Given the description of an element on the screen output the (x, y) to click on. 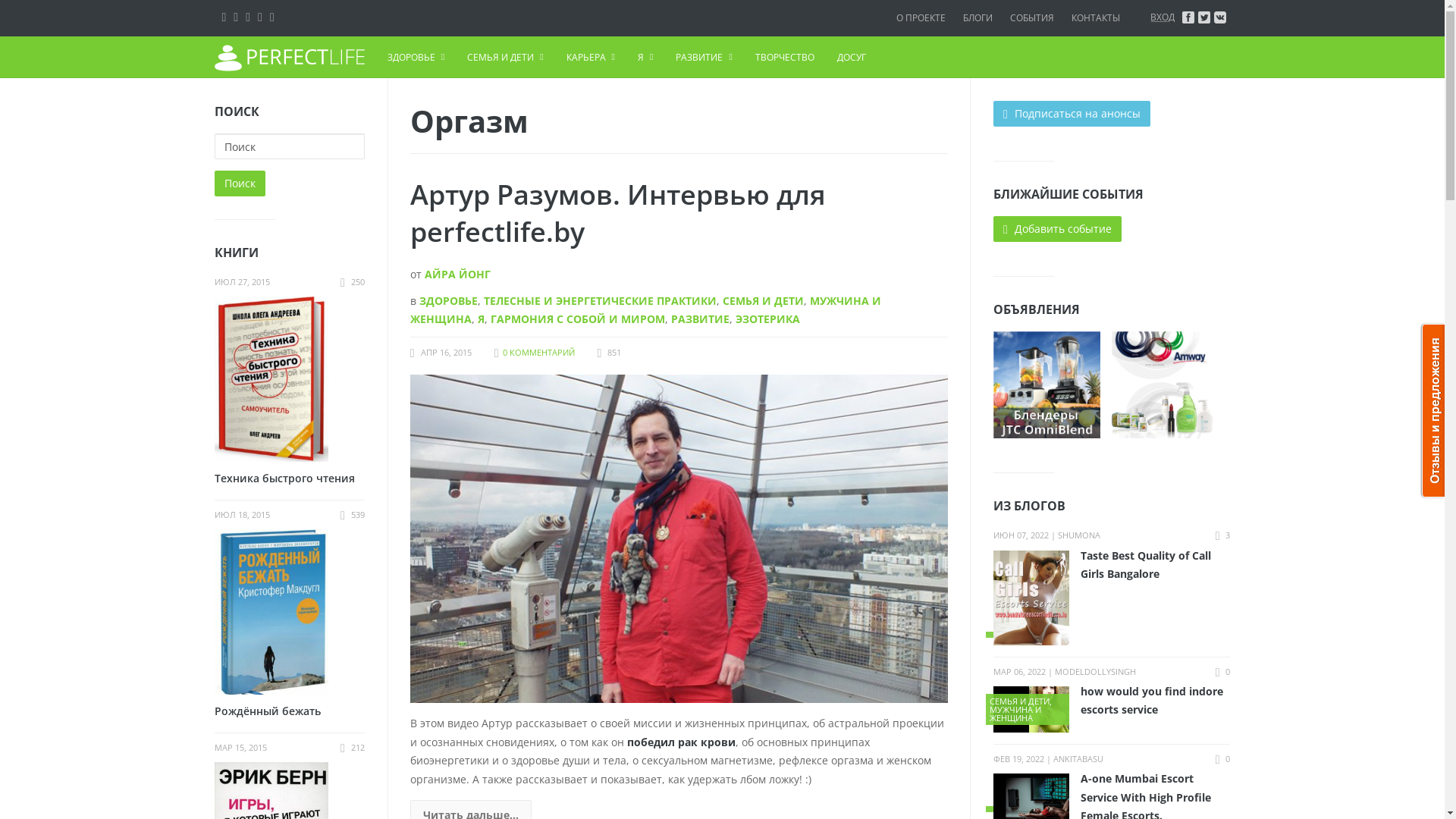
Twitter Element type: hover (247, 15)
VK Element type: hover (223, 15)
twitter Element type: hover (1204, 17)
Facebook Element type: hover (235, 15)
Taste Best Quality of Call Girls Bangalore Element type: text (1111, 564)
how would you find indore escorts service Element type: text (1111, 700)
vkontakte Element type: hover (1220, 17)
Youtube Element type: hover (271, 15)
facebook Element type: hover (1188, 17)
Google+ Element type: hover (259, 15)
